Given the description of an element on the screen output the (x, y) to click on. 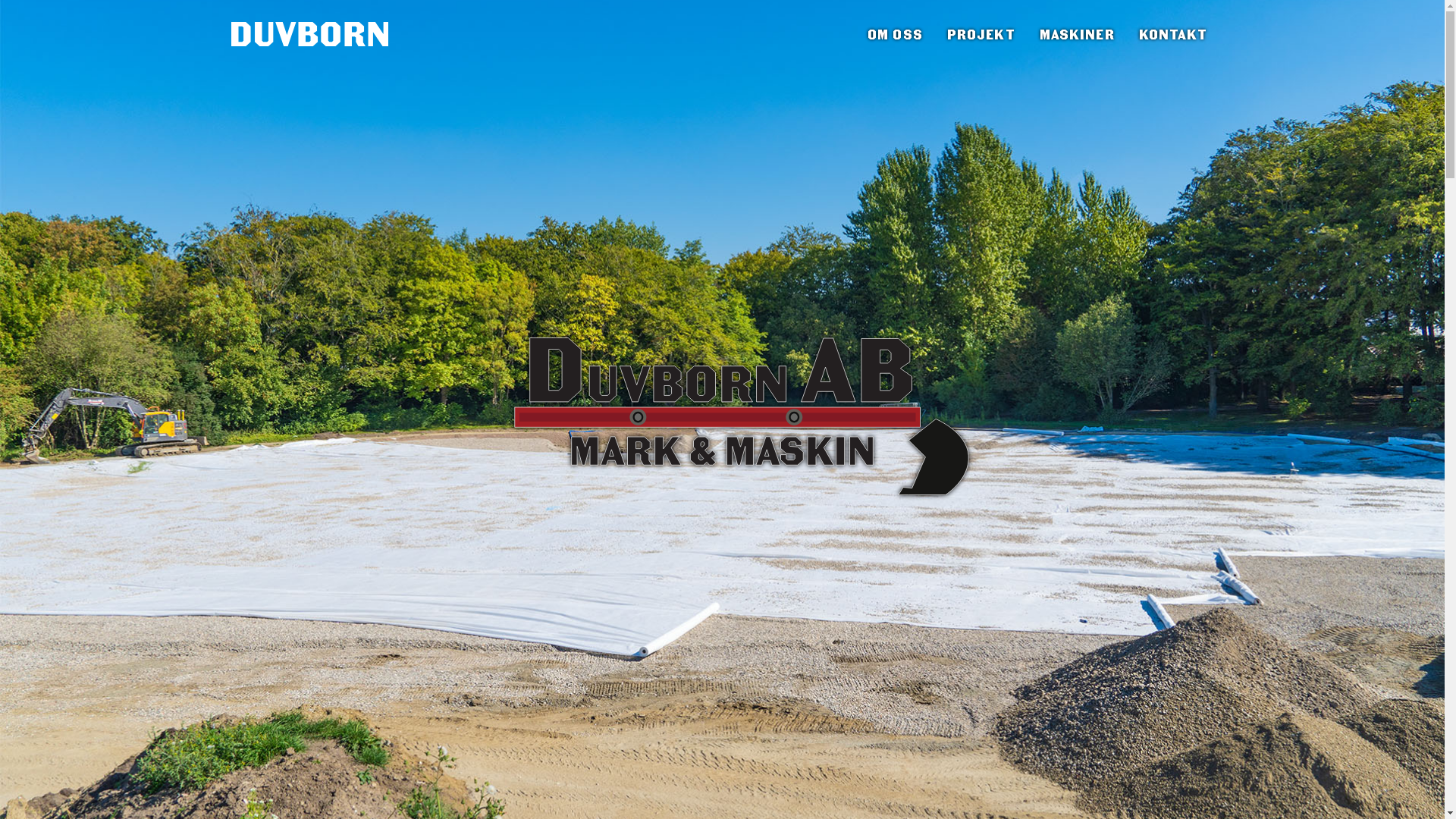
MASKINER Element type: text (1076, 35)
PROJEKT Element type: text (981, 35)
KONTAKT Element type: text (1173, 35)
OM OSS Element type: text (894, 35)
